Given the description of an element on the screen output the (x, y) to click on. 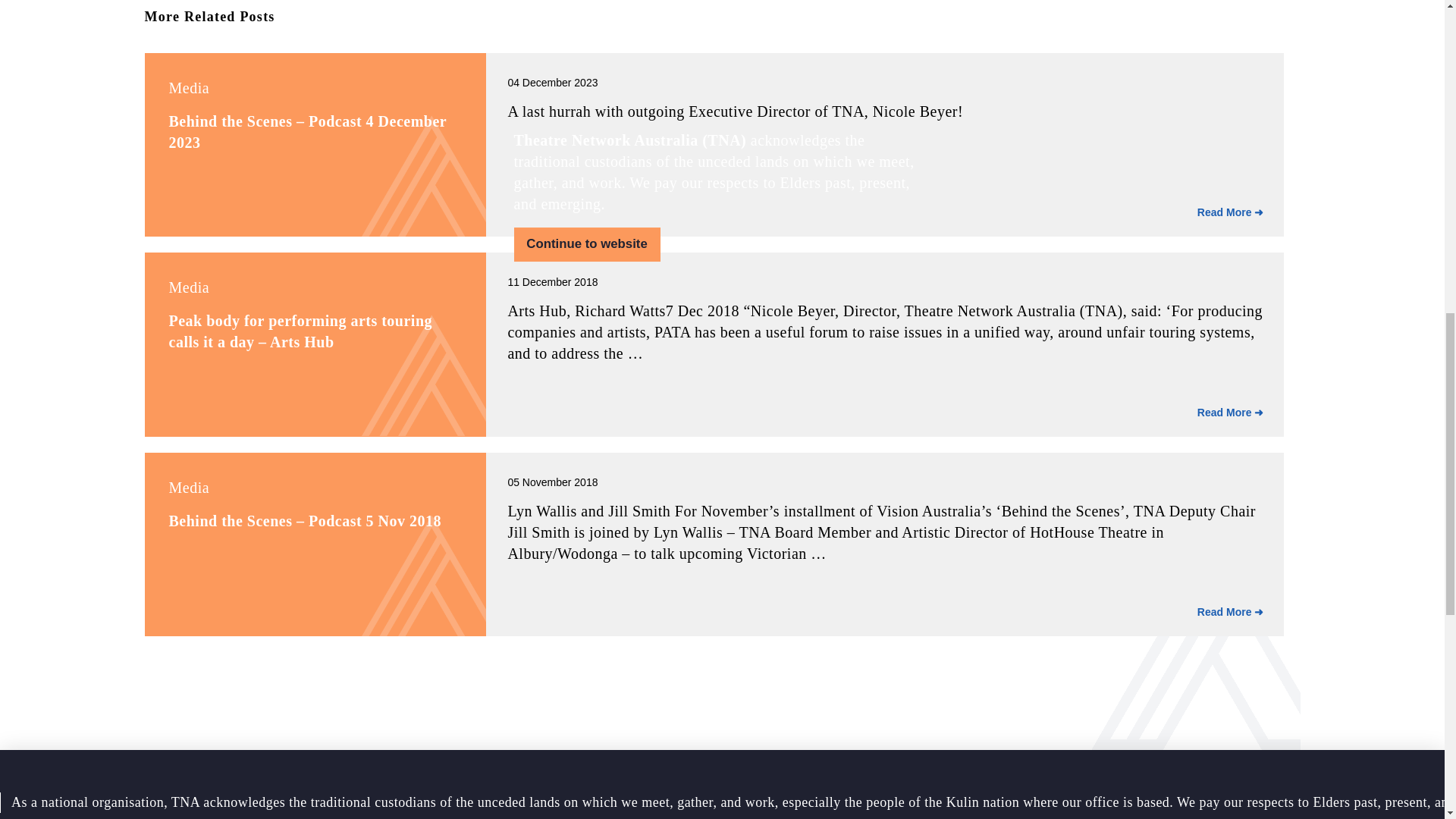
Read More (1230, 212)
Read More (1230, 411)
Read More (1230, 612)
